Given the description of an element on the screen output the (x, y) to click on. 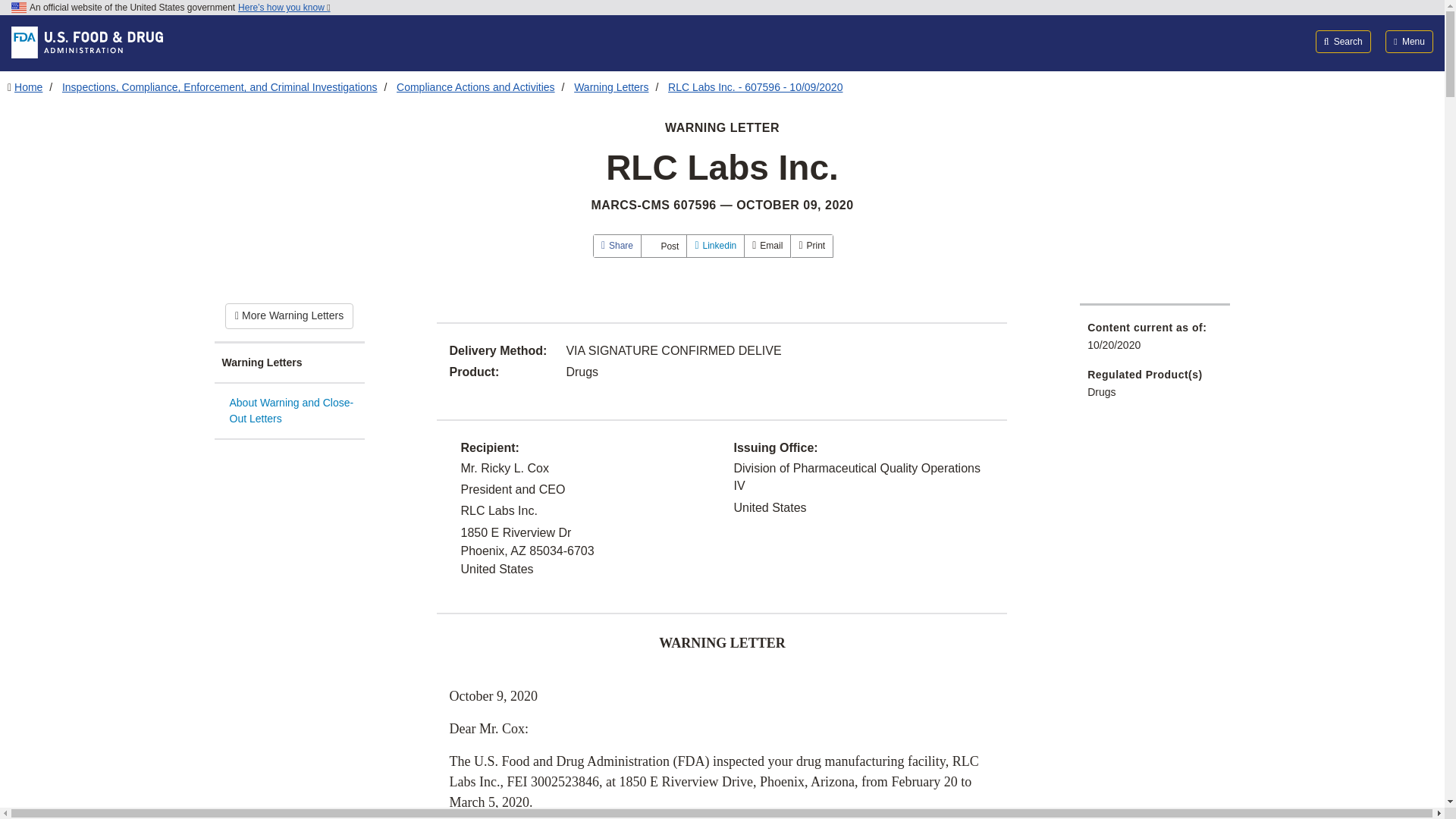
Warning Letters (289, 363)
Print this page (811, 245)
  Menu (1409, 41)
  Search (1343, 41)
